Given the description of an element on the screen output the (x, y) to click on. 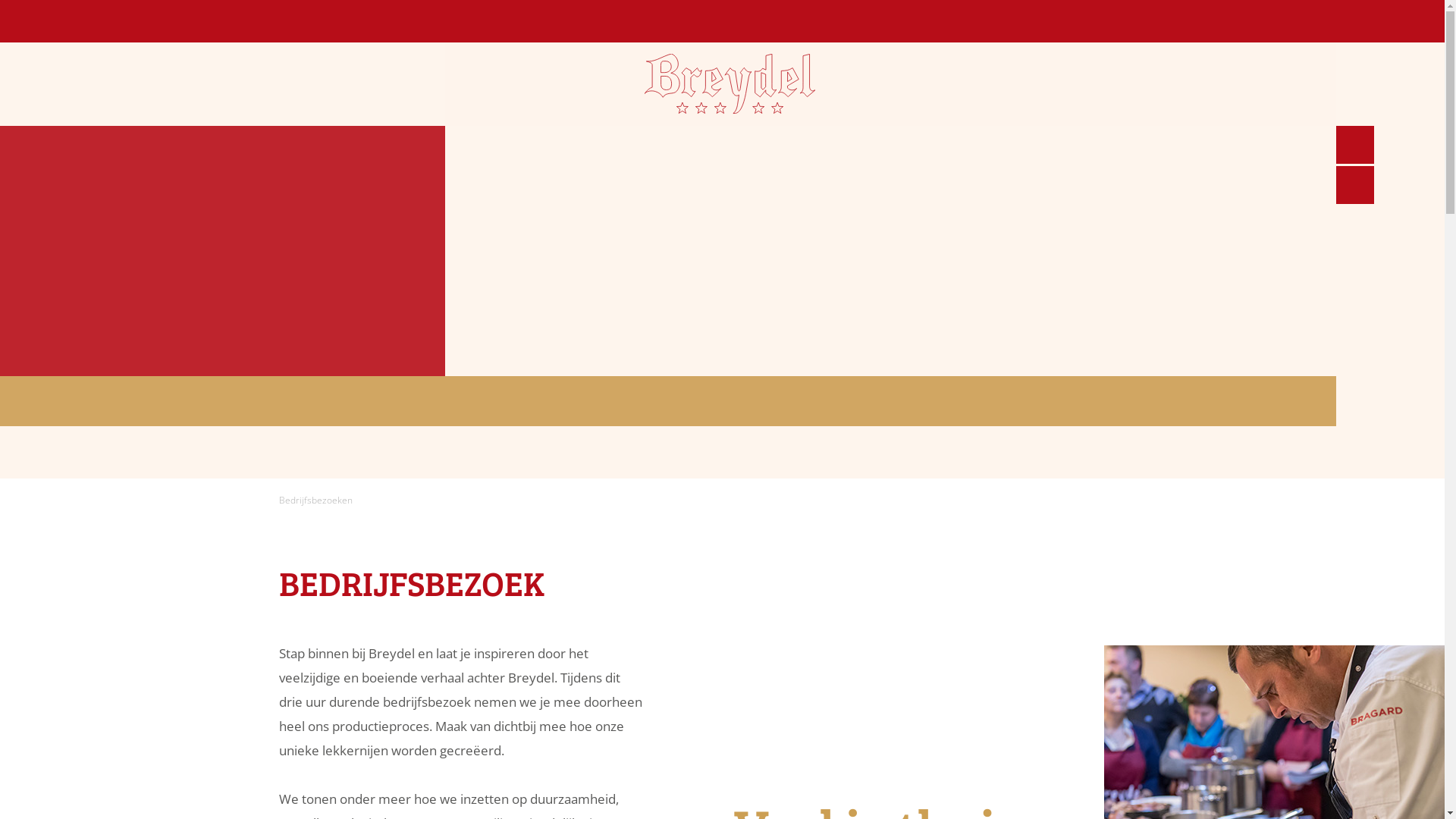
Bedrijfsbezoeken Element type: text (315, 499)
